Given the description of an element on the screen output the (x, y) to click on. 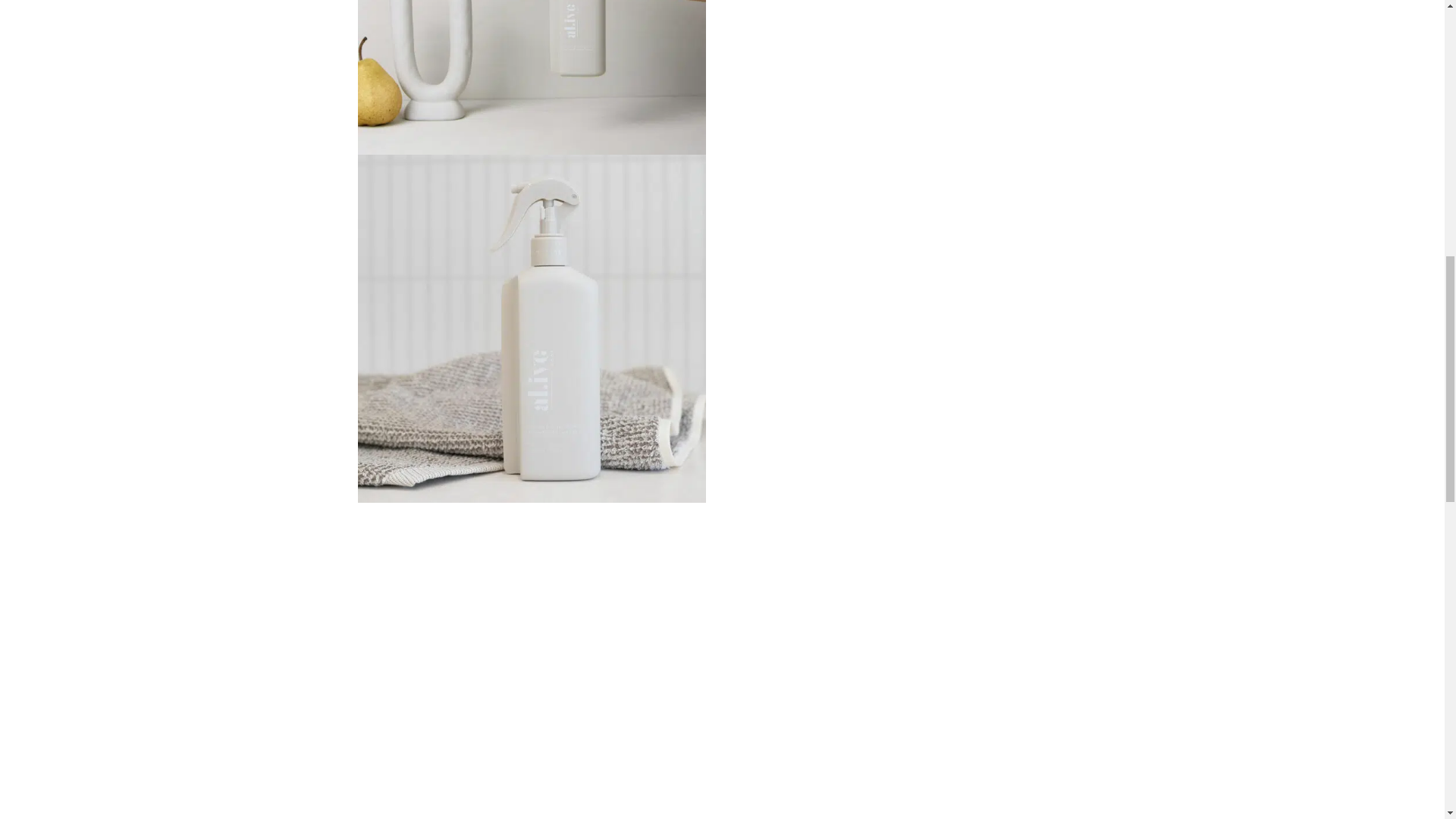
click to zoom-in (532, 328)
click to zoom-in (532, 77)
